Given the description of an element on the screen output the (x, y) to click on. 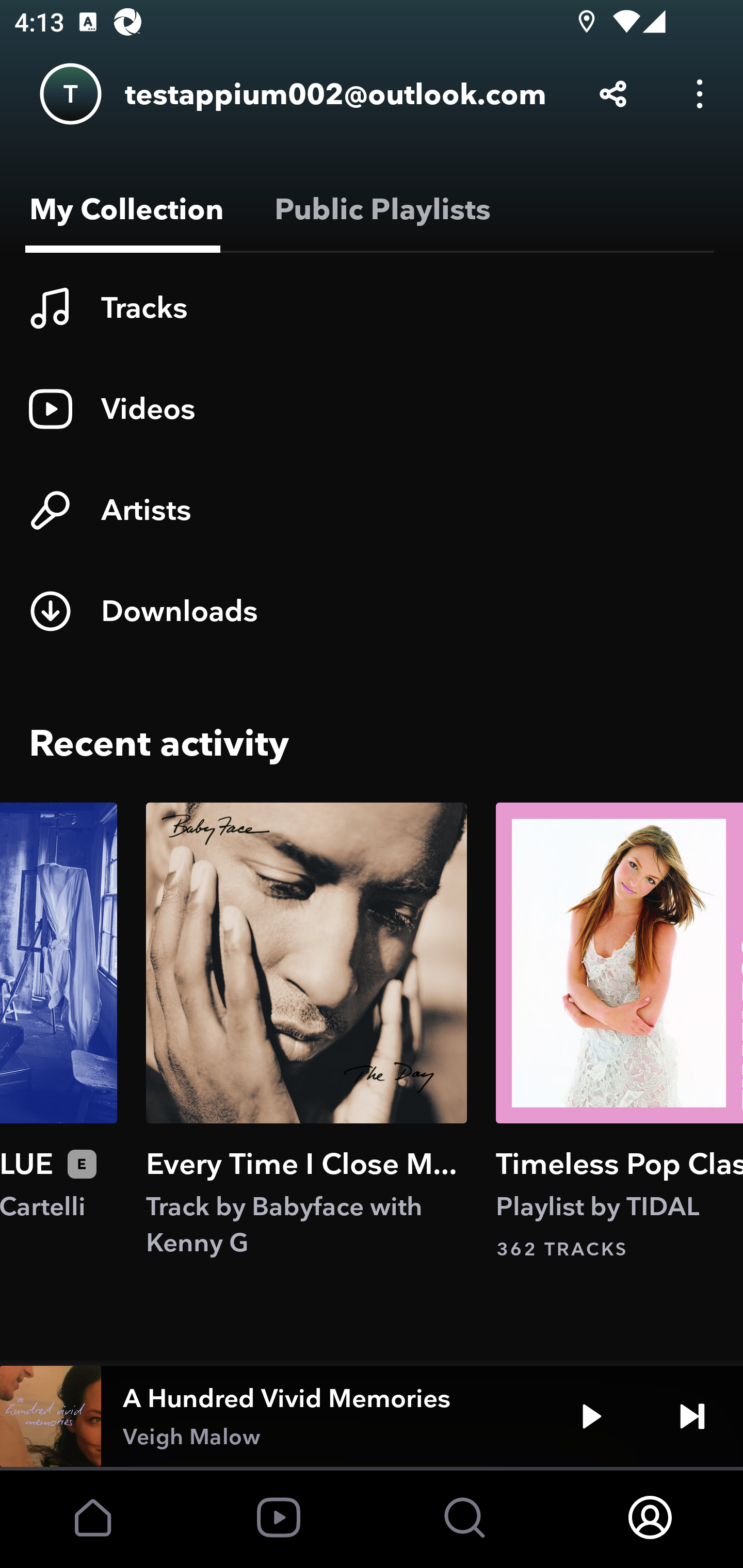
Share (612, 93)
Options (699, 93)
Public Playlists (378, 209)
Tracks (371, 308)
Videos (371, 409)
Artists (371, 510)
Downloads (371, 611)
Timeless Pop Classics Playlist by TIDAL 362 TRACKS (619, 1031)
A Hundred Vivid Memories Veigh Malow Play (371, 1416)
Play (590, 1416)
